Given the description of an element on the screen output the (x, y) to click on. 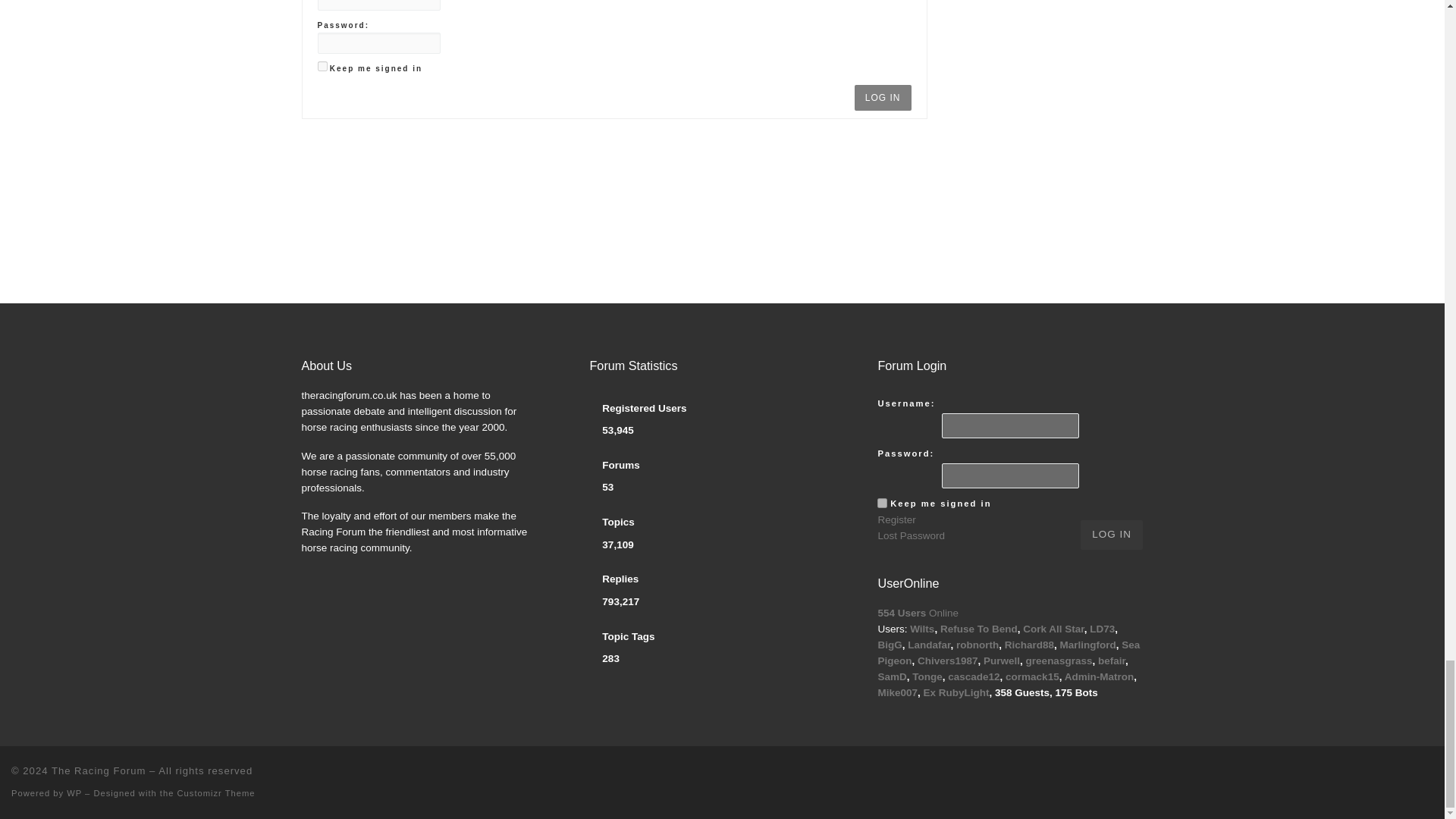
forever (881, 502)
forever (321, 66)
